Given the description of an element on the screen output the (x, y) to click on. 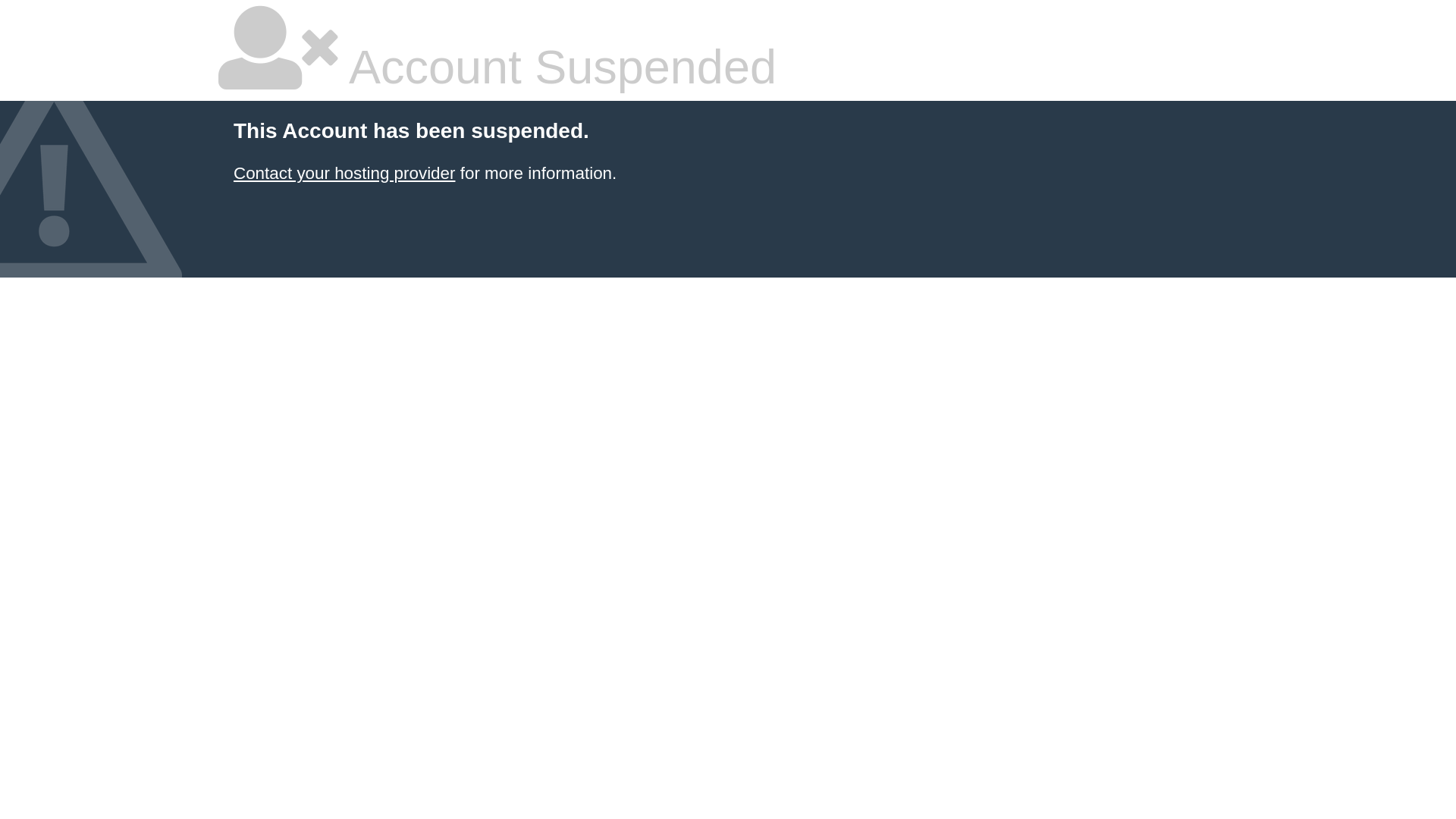
Contact your hosting provider Element type: text (344, 172)
